Given the description of an element on the screen output the (x, y) to click on. 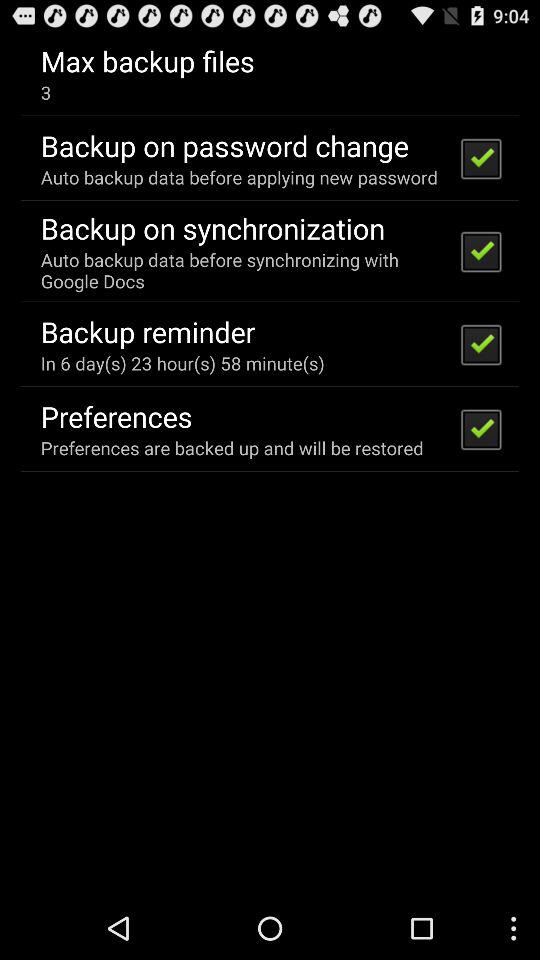
select app below the max backup files icon (45, 92)
